Given the description of an element on the screen output the (x, y) to click on. 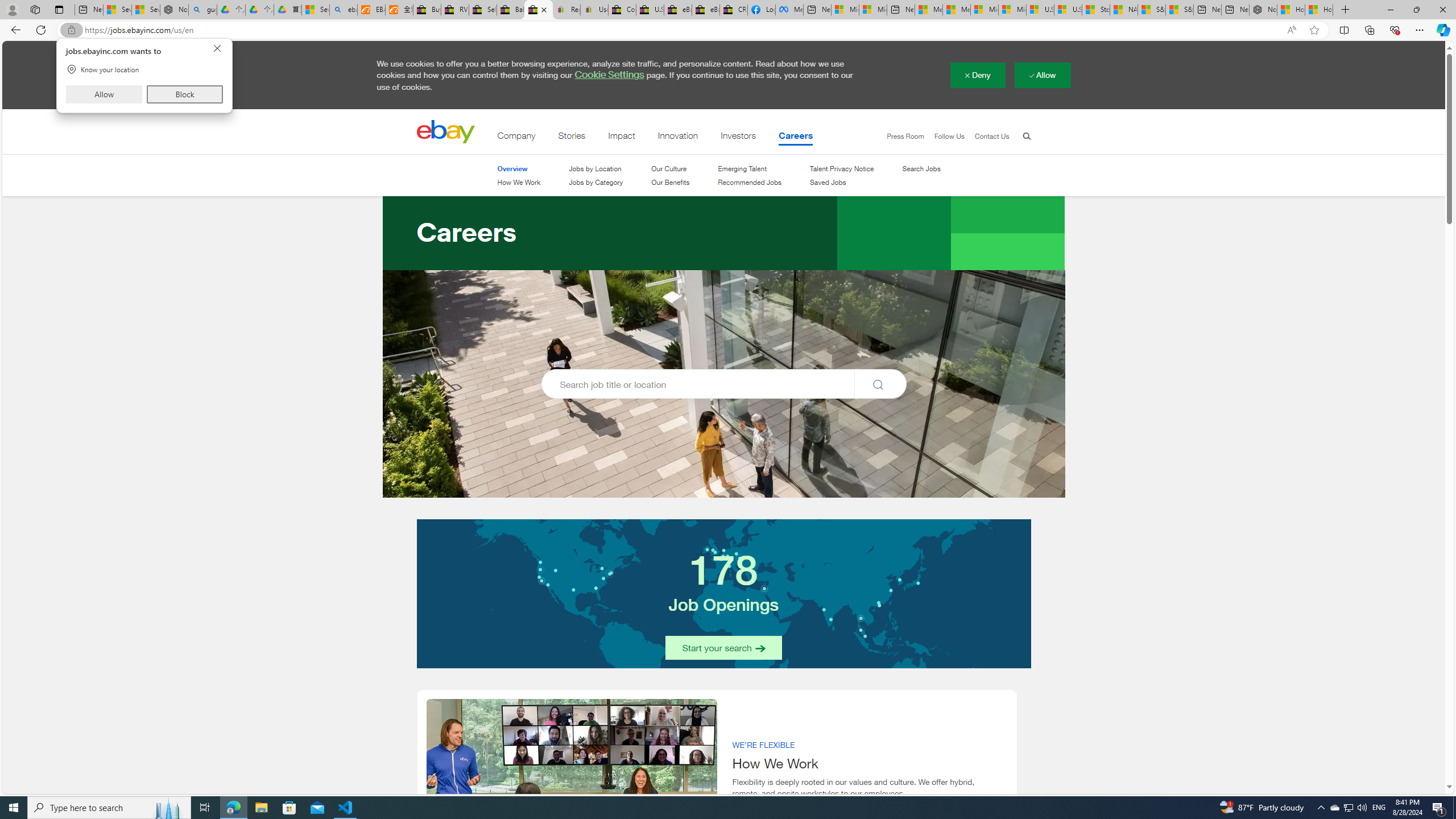
ebay - Search (343, 9)
guge yunpan - Search (202, 9)
Block (184, 94)
Investors (738, 138)
Careers (795, 138)
Press Room (900, 136)
Our Culture (670, 168)
Tray Input Indicator - English (United States) (1378, 807)
Search Jobs (921, 168)
Buy Auto Parts & Accessories | eBay (426, 9)
